Given the description of an element on the screen output the (x, y) to click on. 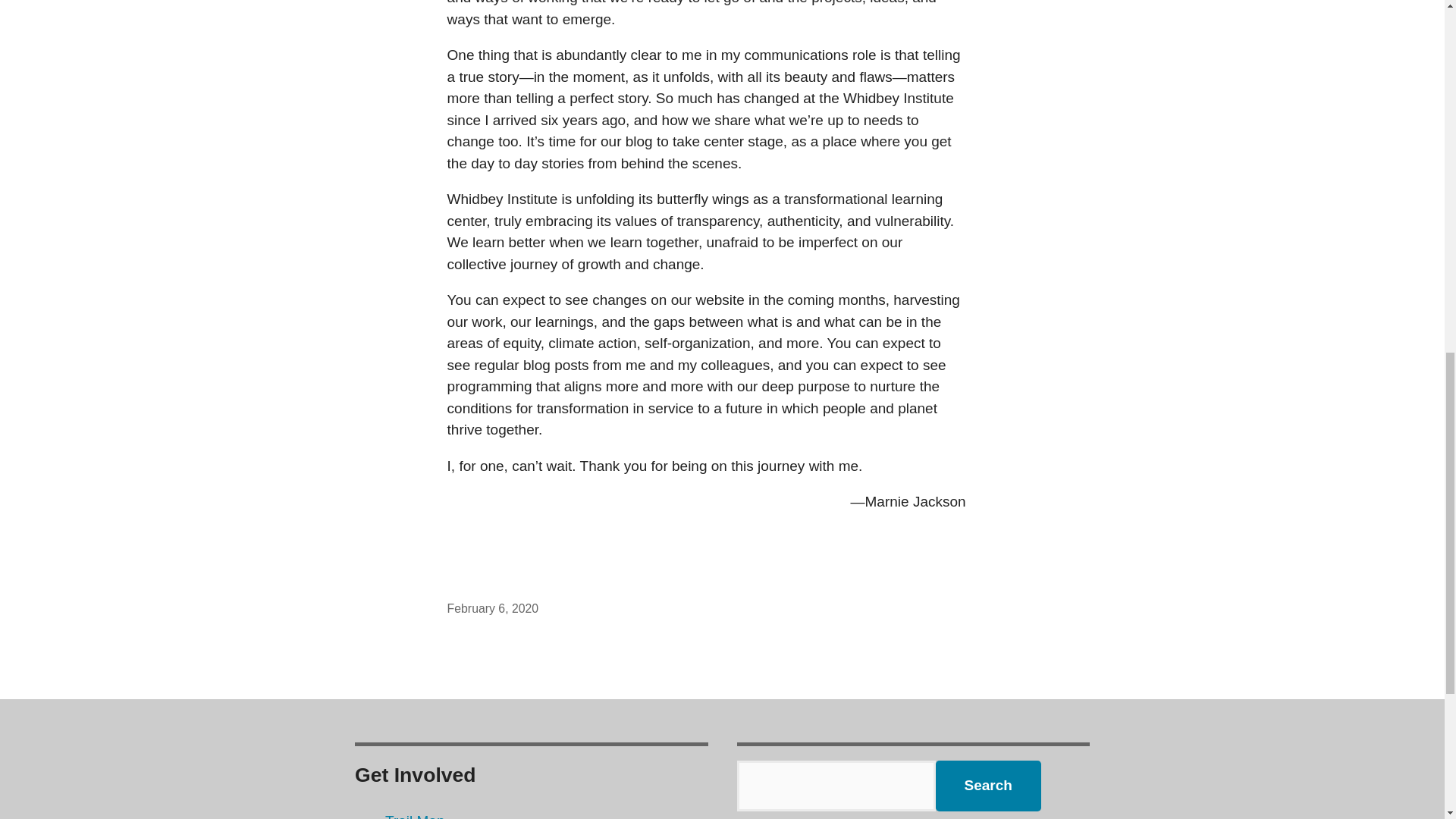
Search (988, 786)
Search (988, 786)
Trail Map (414, 816)
